Given the description of an element on the screen output the (x, y) to click on. 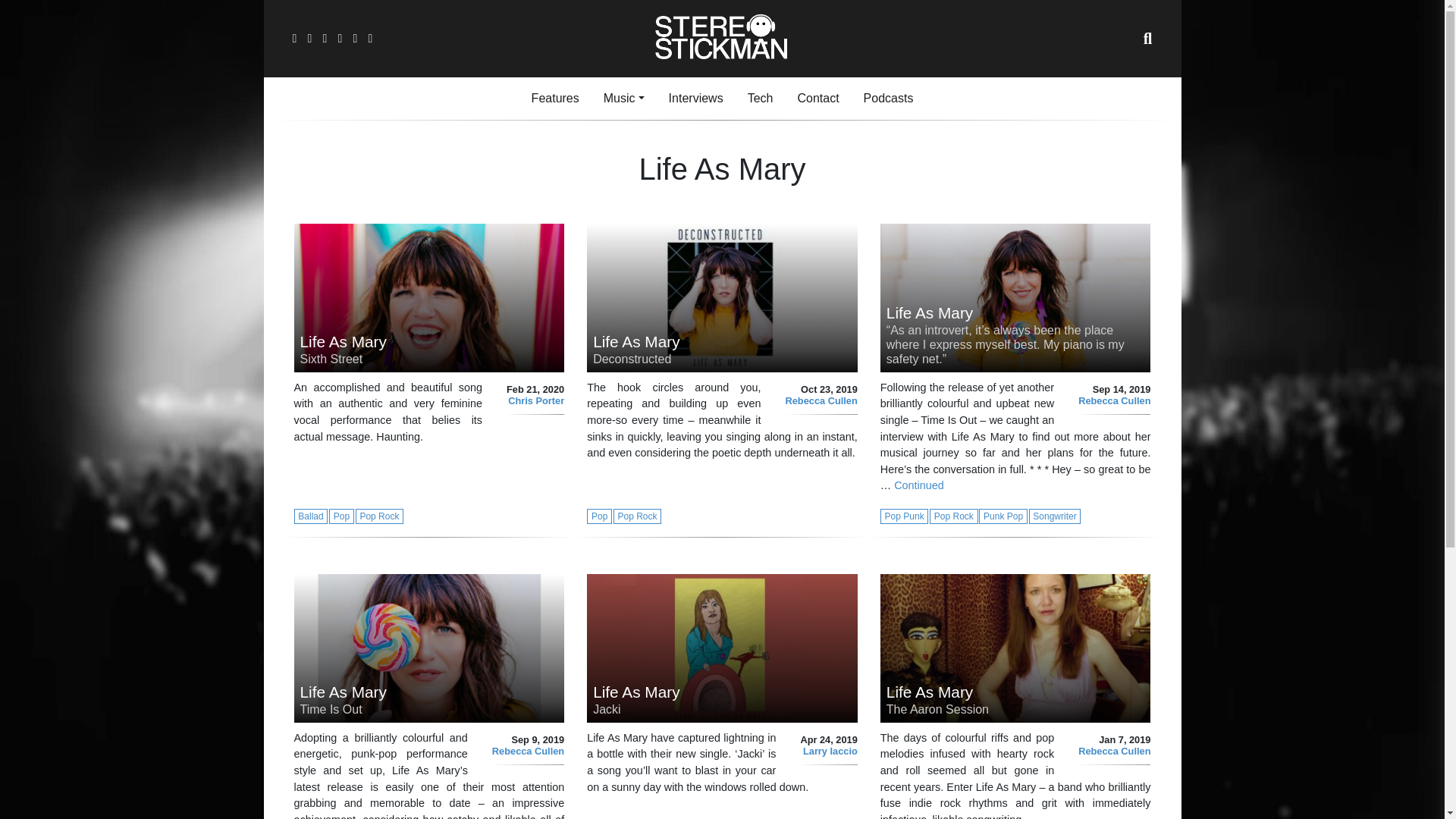
Pop (342, 514)
Rebecca Cullen (528, 750)
Pop (429, 297)
Contact (599, 514)
Tech (817, 98)
Pop Punk (760, 98)
Features (905, 514)
Features (555, 98)
Pop Rock (555, 98)
